Given the description of an element on the screen output the (x, y) to click on. 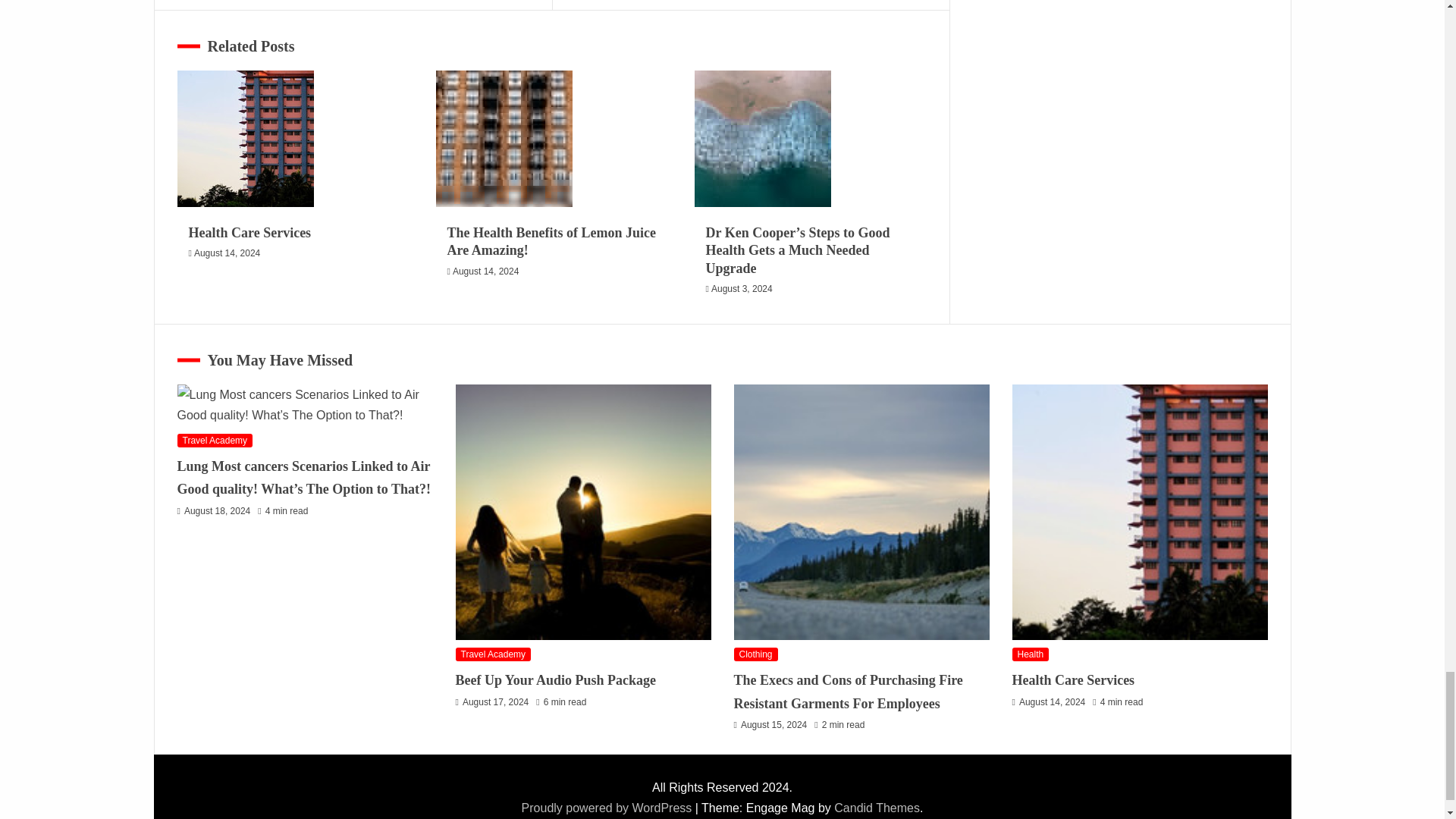
The Health Benefits of Lemon Juice Are Amazing! (503, 138)
Beef Up Your Audio Push Package (582, 511)
Health Care Services (245, 138)
Health Care Services (1138, 511)
